Given the description of an element on the screen output the (x, y) to click on. 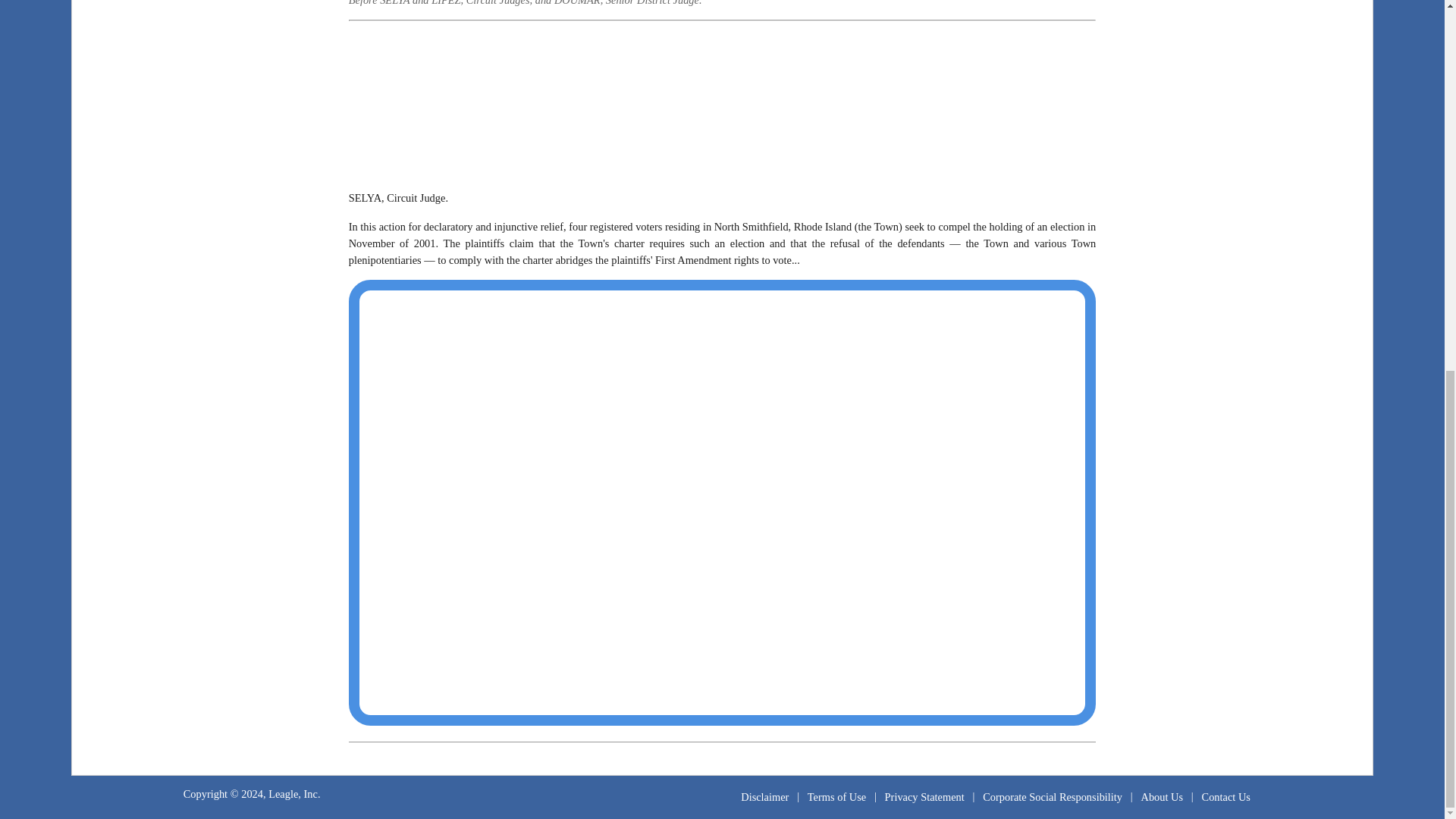
Contact Us (1225, 796)
Advertisement (722, 102)
Privacy Statement (924, 796)
Corporate Social Responsibility (1052, 796)
Terms of Use (837, 796)
About Us (1162, 796)
Disclaimer (765, 796)
